Given the description of an element on the screen output the (x, y) to click on. 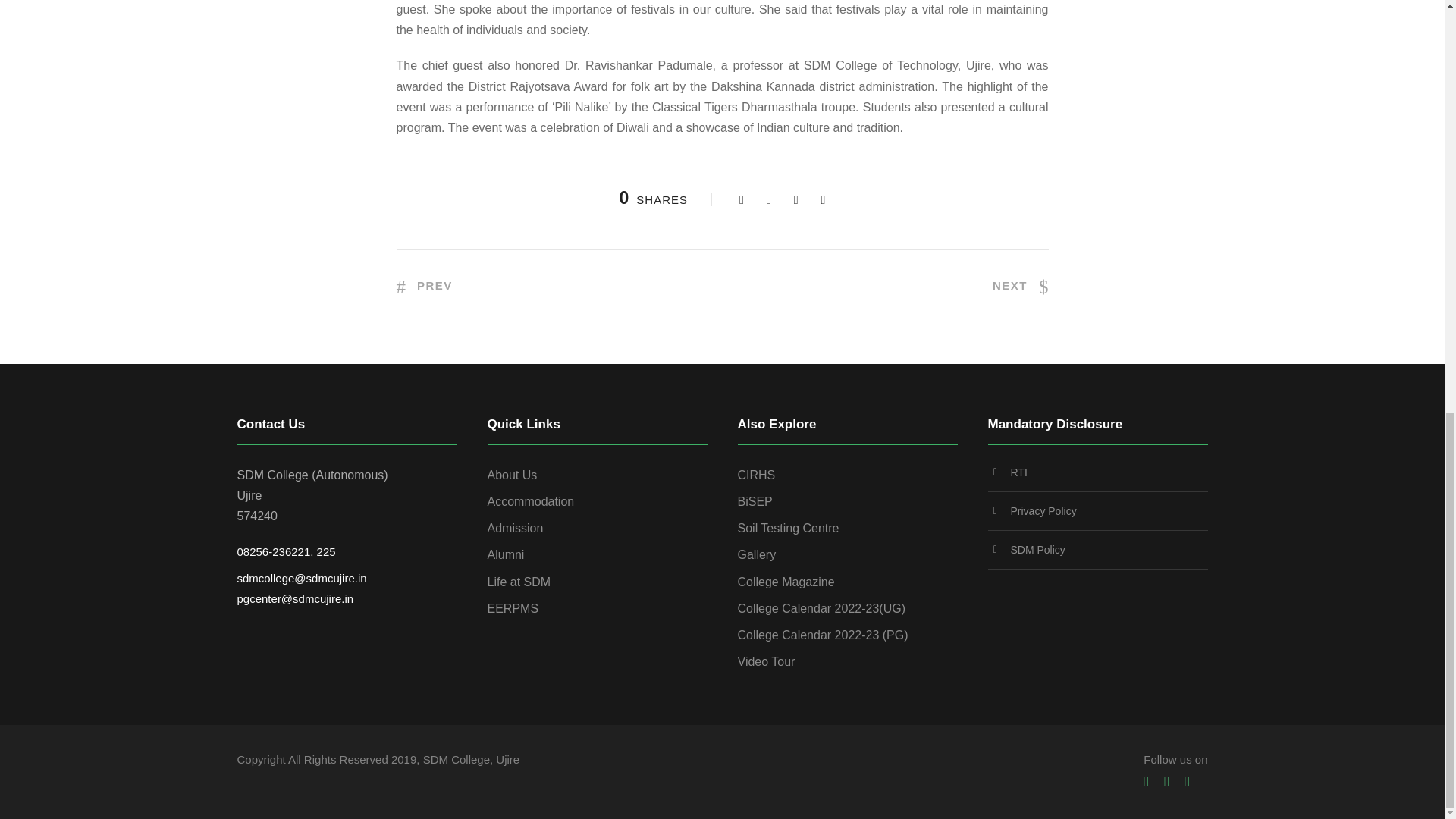
instagram (1187, 781)
youtube (1166, 781)
facebook (1145, 781)
